Given the description of an element on the screen output the (x, y) to click on. 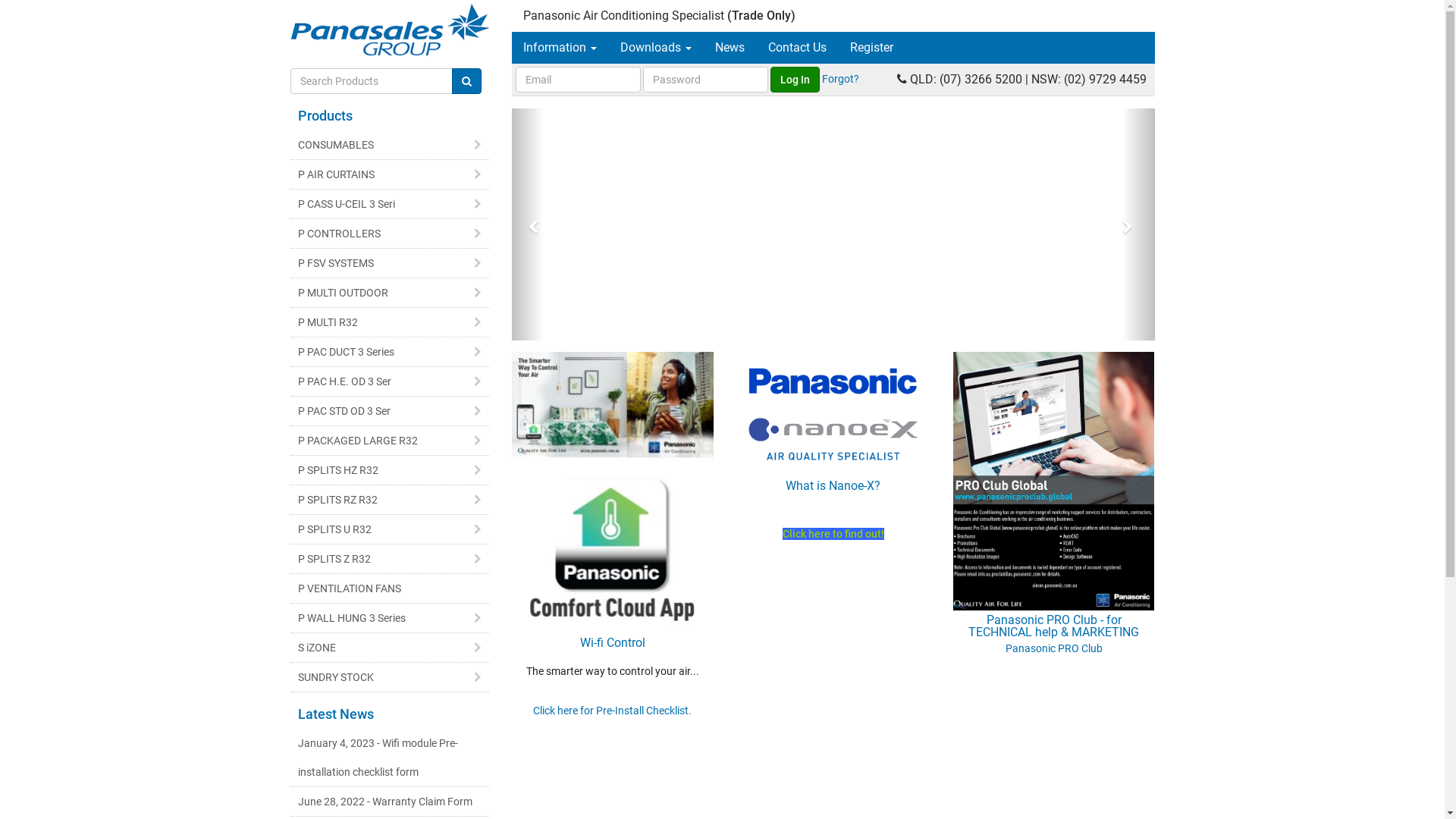
What is Nanoe-X? Element type: text (833, 455)
Forgot? Element type: text (840, 78)
P AIR CURTAINS Element type: text (389, 174)
P WALL HUNG 3 Series Element type: text (389, 617)
June 28, 2022 - Warranty Claim Form Element type: text (389, 801)
Latest News Element type: text (335, 713)
Downloads Element type: text (655, 47)
NSW: (02) 9729 4459 Element type: text (1088, 79)
Register Element type: text (871, 47)
Panasonic PRO Club - for TECHNICAL help & MARKETING Element type: text (1053, 555)
P SPLITS HZ R32 Element type: text (389, 469)
P PAC DUCT 3 Series Element type: text (389, 351)
P PAC H.E. OD 3 Ser Element type: text (389, 381)
Click here for Pre-Install Checklist. Element type: text (612, 710)
Go! Element type: text (466, 81)
News Element type: text (729, 47)
P PAC STD OD 3 Ser Element type: text (389, 410)
P CONTROLLERS Element type: text (389, 233)
Search Products Element type: hover (466, 81)
QLD: (07) 3266 5200 Element type: text (966, 79)
Information Element type: text (559, 47)
P VENTILATION FANS Element type: text (389, 588)
CONSUMABLES Element type: text (389, 144)
Panasales Group Home Element type: hover (389, 29)
S iZONE Element type: text (389, 647)
P SPLITS RZ R32 Element type: text (389, 499)
Contact Us Element type: text (796, 47)
Panasonic PRO Club Element type: text (1053, 648)
P PACKAGED LARGE R32 Element type: text (389, 440)
Products Element type: text (324, 115)
P MULTI OUTDOOR Element type: text (389, 292)
P MULTI R32 Element type: text (389, 321)
P FSV SYSTEMS Element type: text (389, 262)
P SPLITS U R32 Element type: text (389, 528)
Wi-fi Control Element type: text (612, 573)
P CASS U-CEIL 3 Seri Element type: text (389, 203)
Log In Element type: text (794, 79)
SUNDRY STOCK Element type: text (389, 676)
P SPLITS Z R32 Element type: text (389, 558)
